Given the description of an element on the screen output the (x, y) to click on. 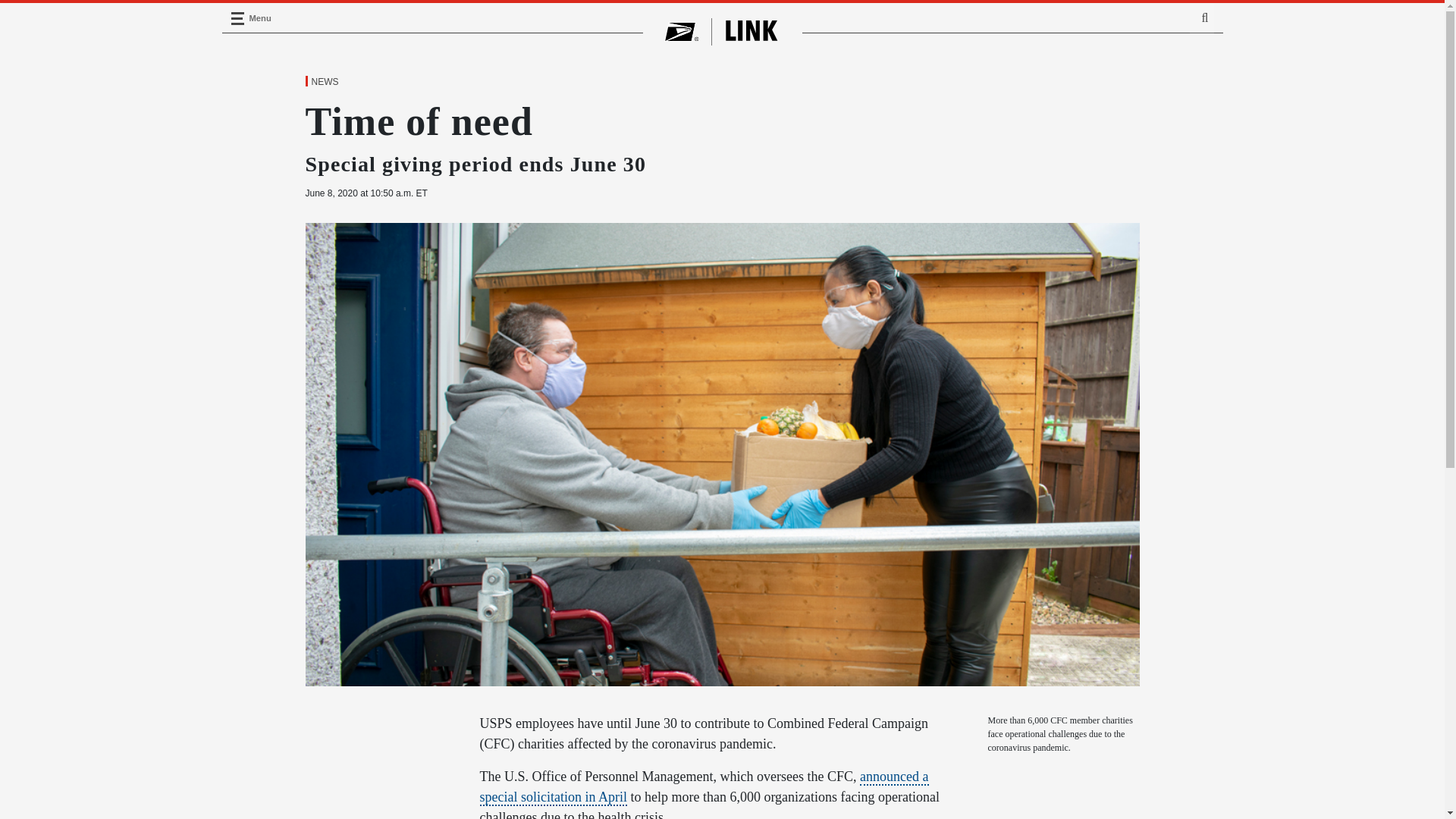
NEWS (323, 81)
Menu (237, 18)
announced a special solicitation in April (703, 787)
